Given the description of an element on the screen output the (x, y) to click on. 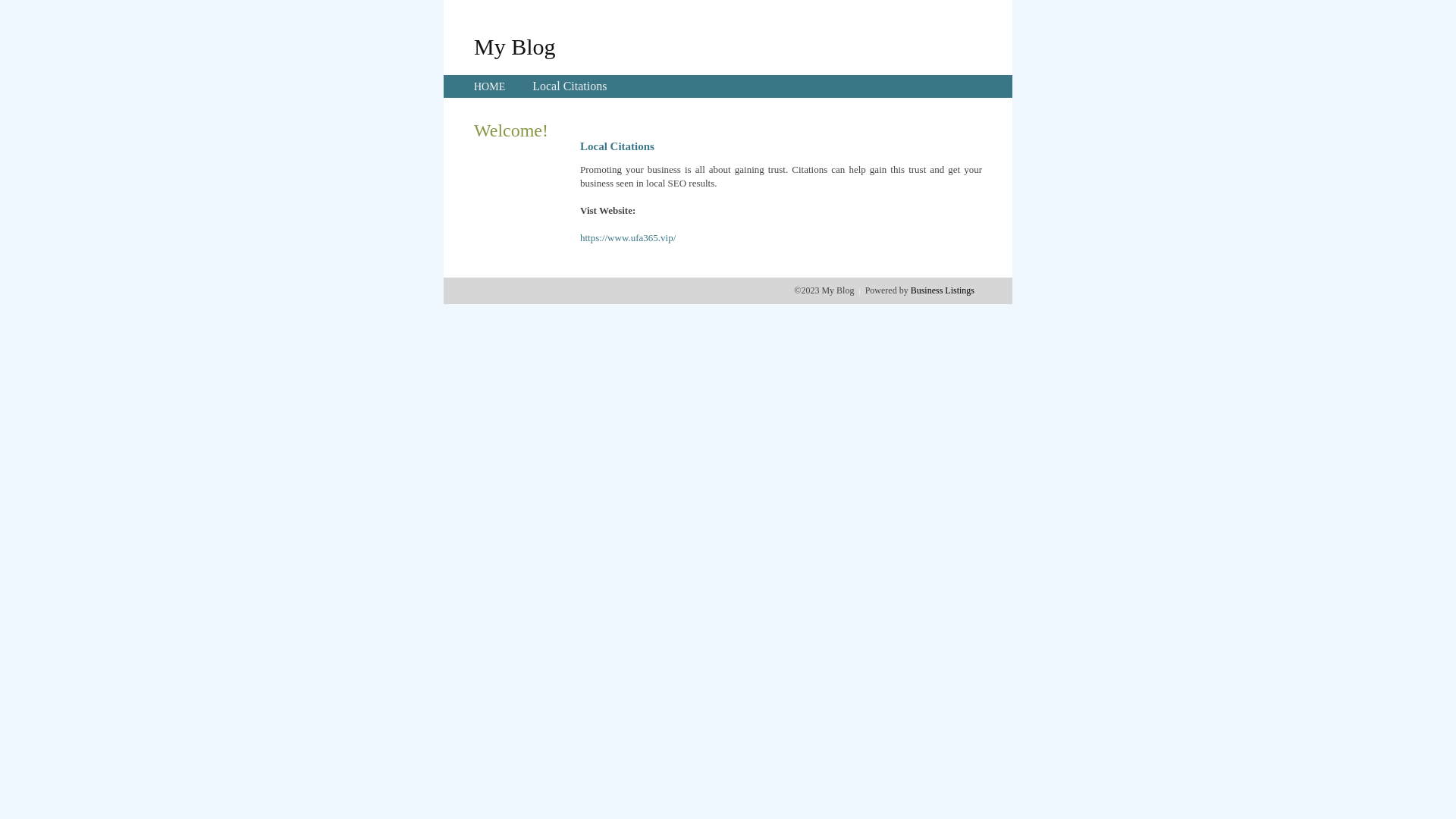
Local Citations Element type: text (569, 85)
My Blog Element type: text (514, 46)
HOME Element type: text (489, 86)
Business Listings Element type: text (942, 290)
https://www.ufa365.vip/ Element type: text (627, 237)
